Given the description of an element on the screen output the (x, y) to click on. 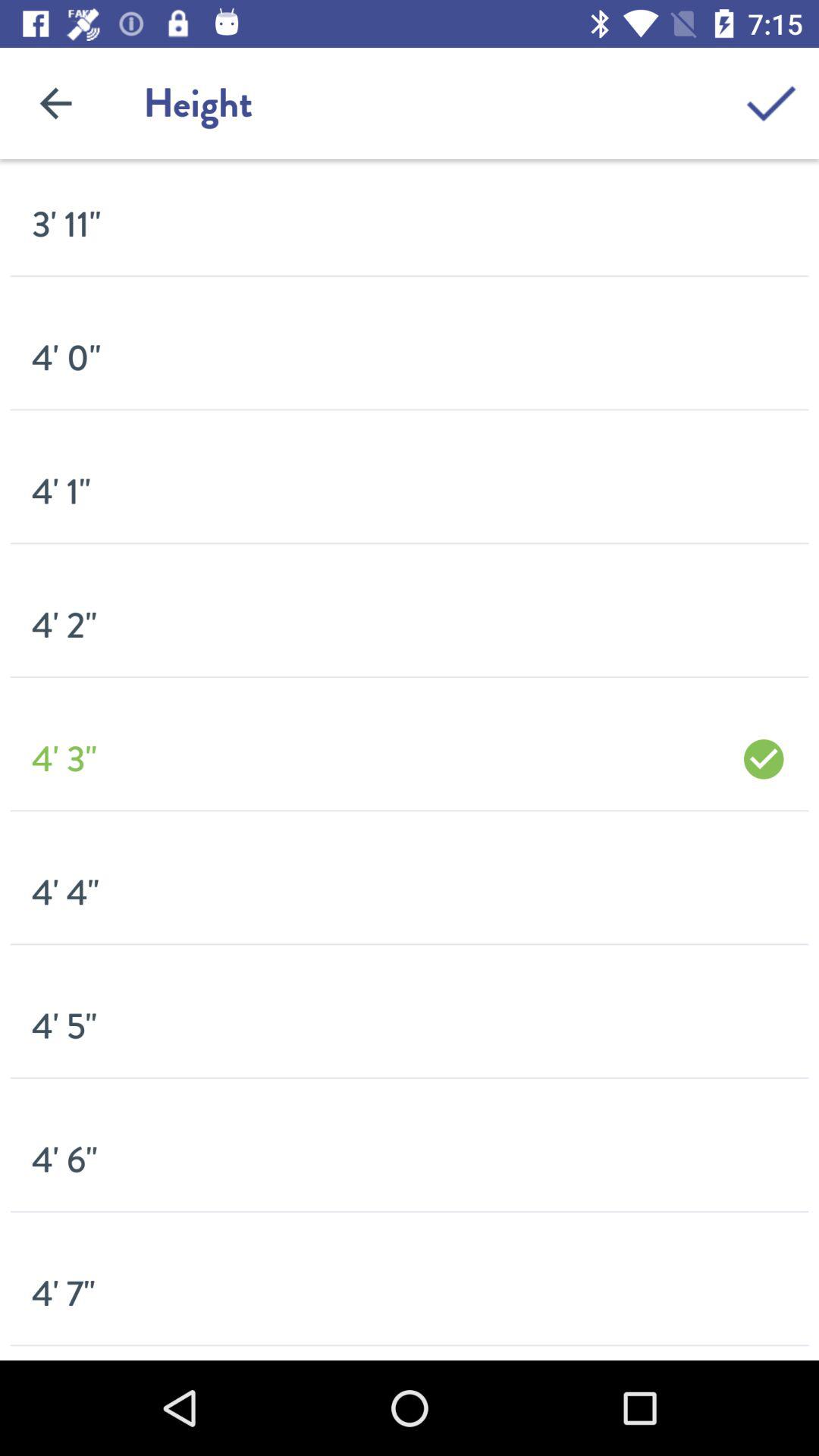
choose the item next to height item (55, 103)
